Given the description of an element on the screen output the (x, y) to click on. 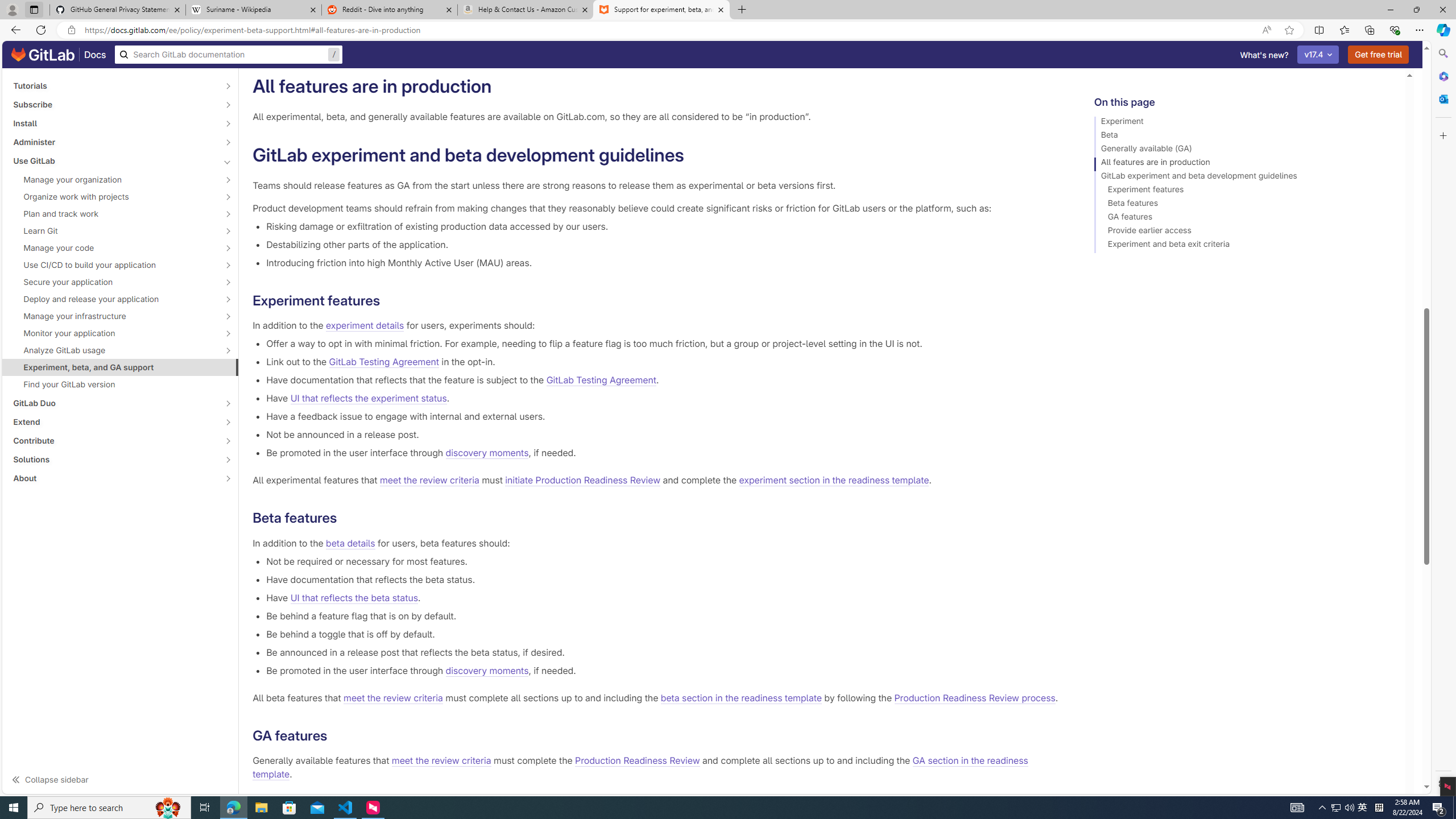
Secure your application (113, 281)
GitLab experiment and beta development guidelines (1244, 177)
GA features (1244, 218)
GitHub General Privacy Statement - GitHub Docs (117, 9)
beta section in the readiness template (741, 697)
All features are in production (1244, 164)
Subscribe (113, 104)
Experiment features (1244, 191)
Get free trial (1378, 54)
beta details (350, 543)
GitLab Testing Agreement (601, 380)
GitLab Duo (113, 402)
